Given the description of an element on the screen output the (x, y) to click on. 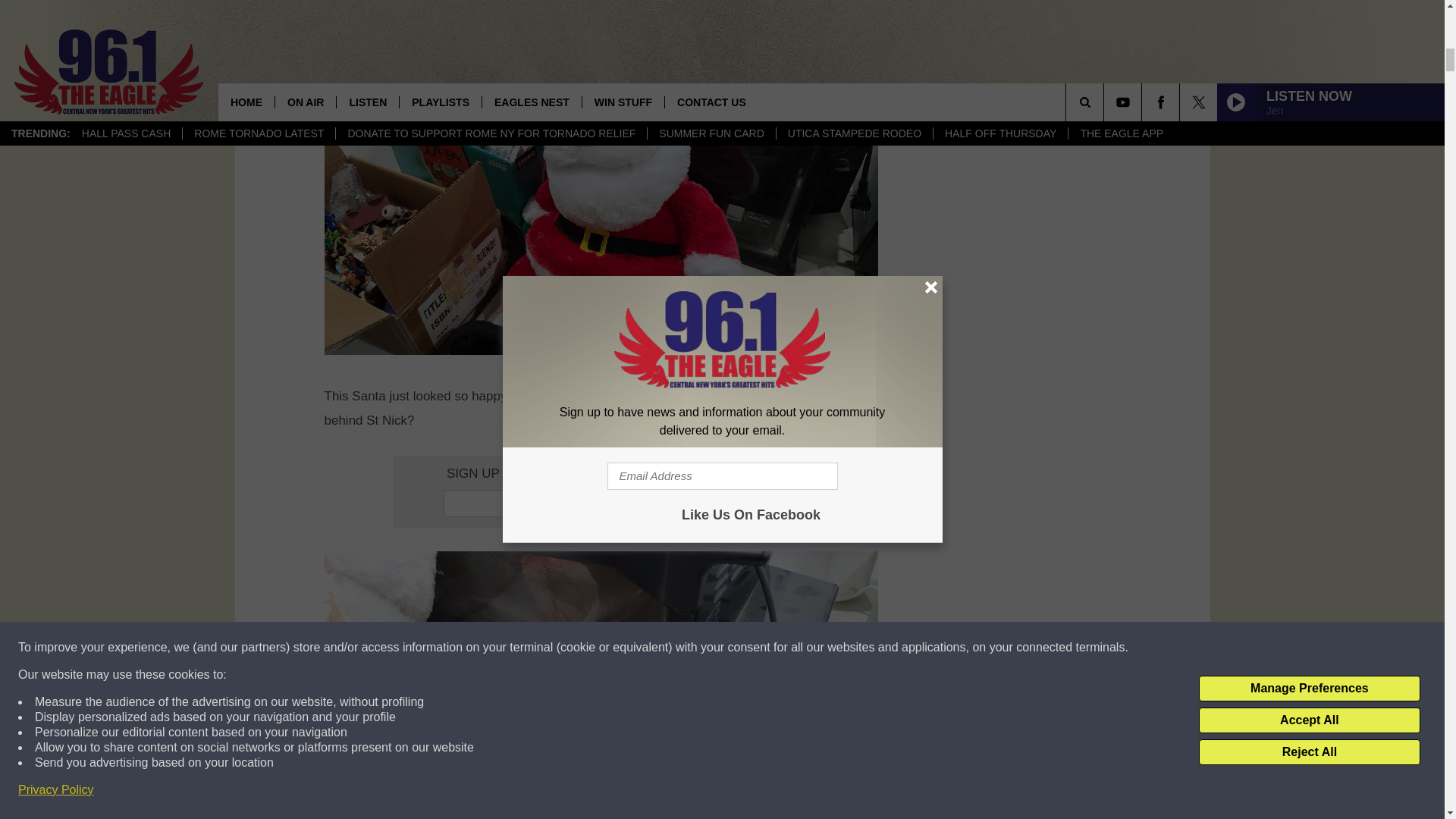
Email Address (600, 502)
